Given the description of an element on the screen output the (x, y) to click on. 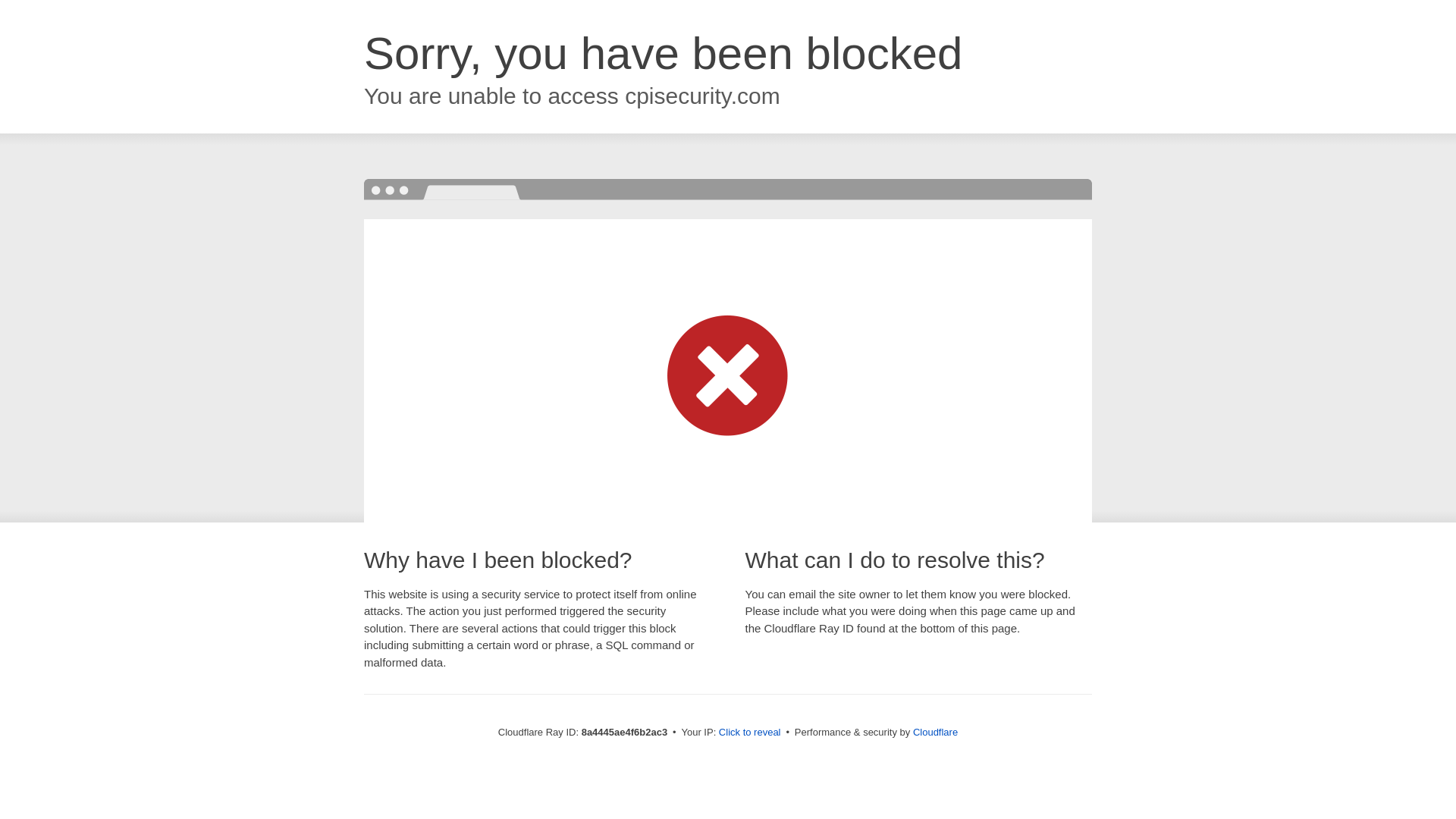
Cloudflare (935, 731)
Click to reveal (749, 732)
